Given the description of an element on the screen output the (x, y) to click on. 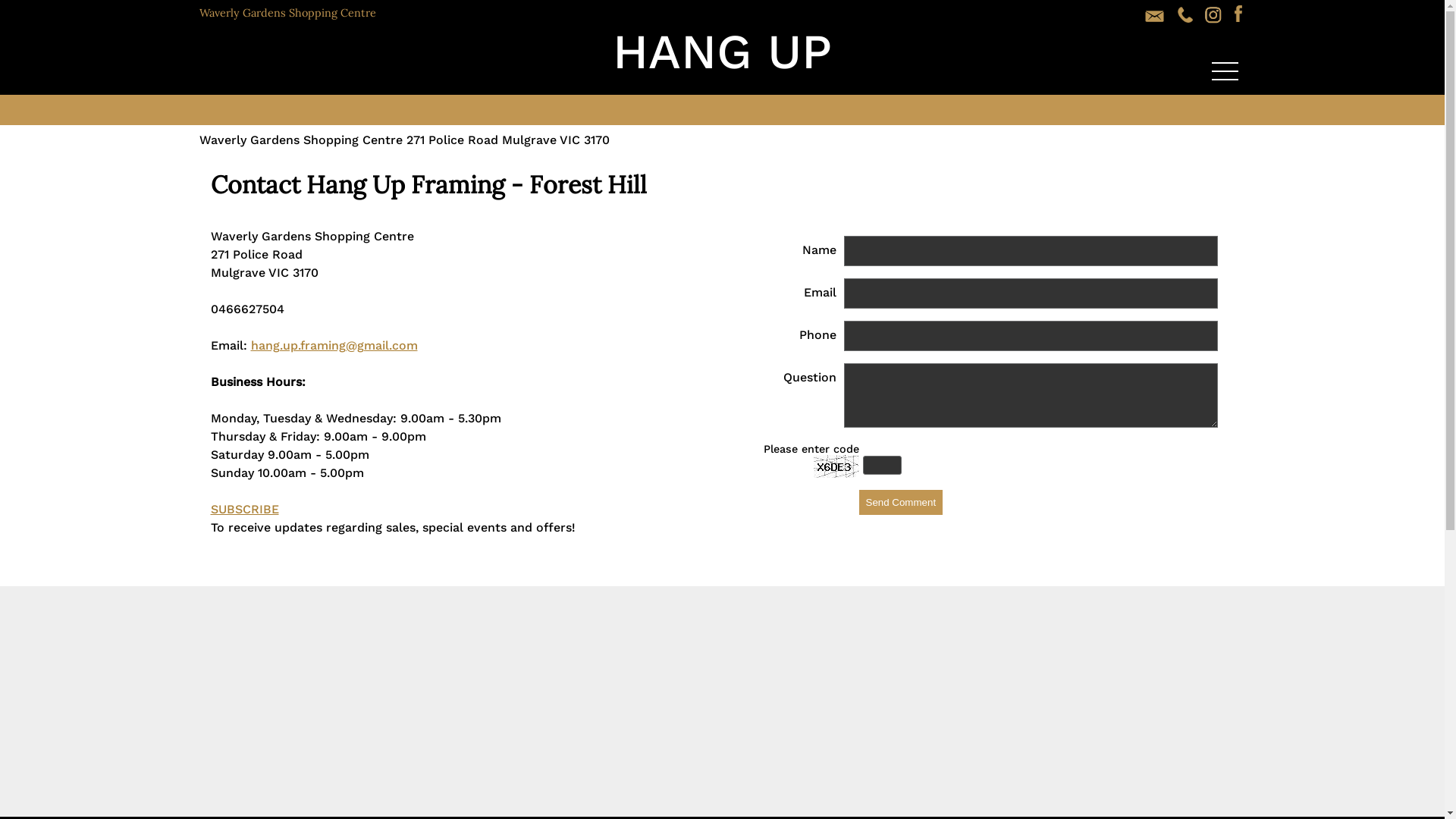
SUBSCRIBE Element type: text (244, 509)
Send Comment Element type: text (900, 501)
hang.up.framing@gmail.com Element type: text (333, 345)
